Given the description of an element on the screen output the (x, y) to click on. 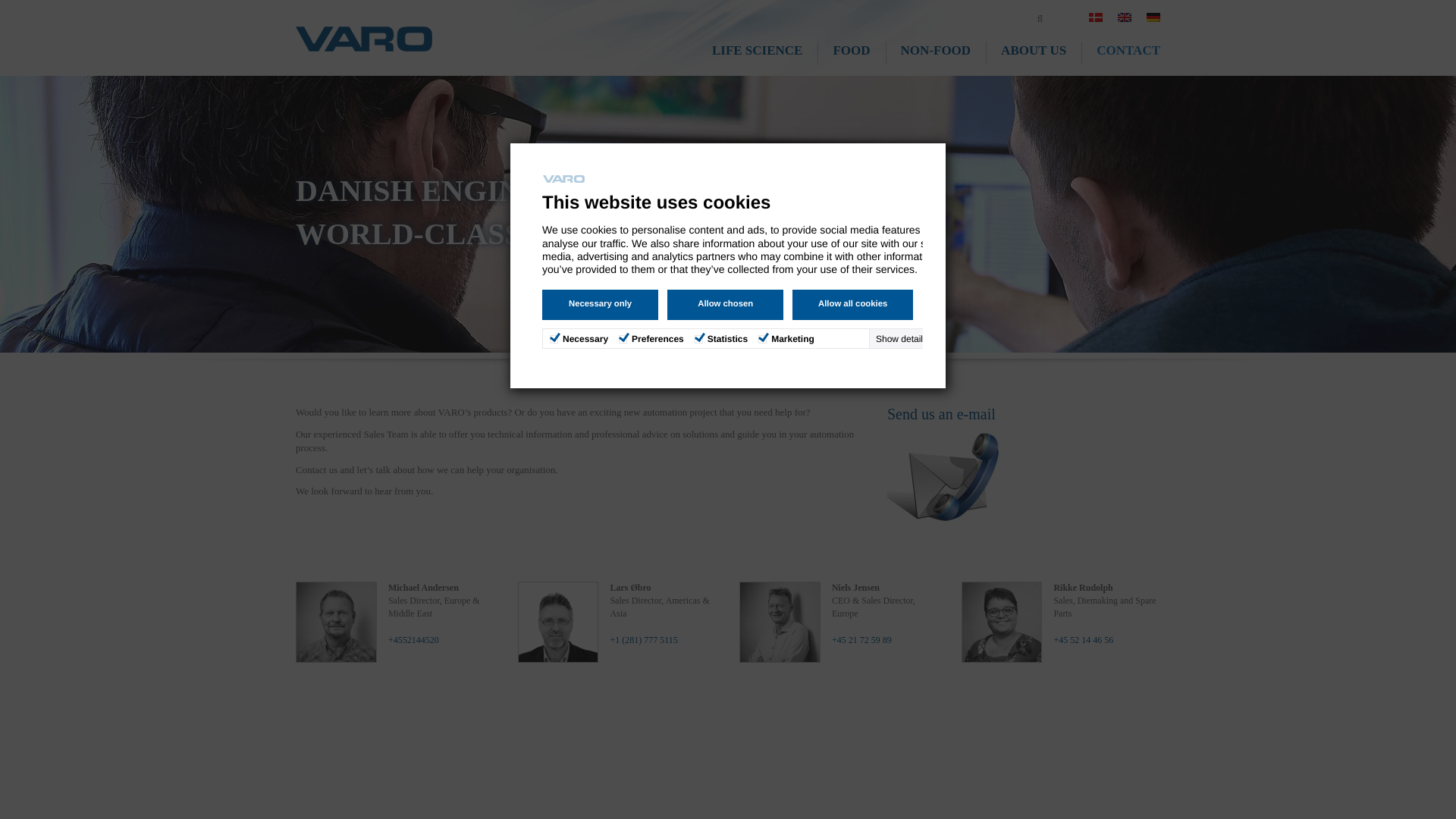
Show details (915, 338)
Allow chosen (724, 304)
Allow all cookies (852, 304)
Necessary only (599, 304)
